Given the description of an element on the screen output the (x, y) to click on. 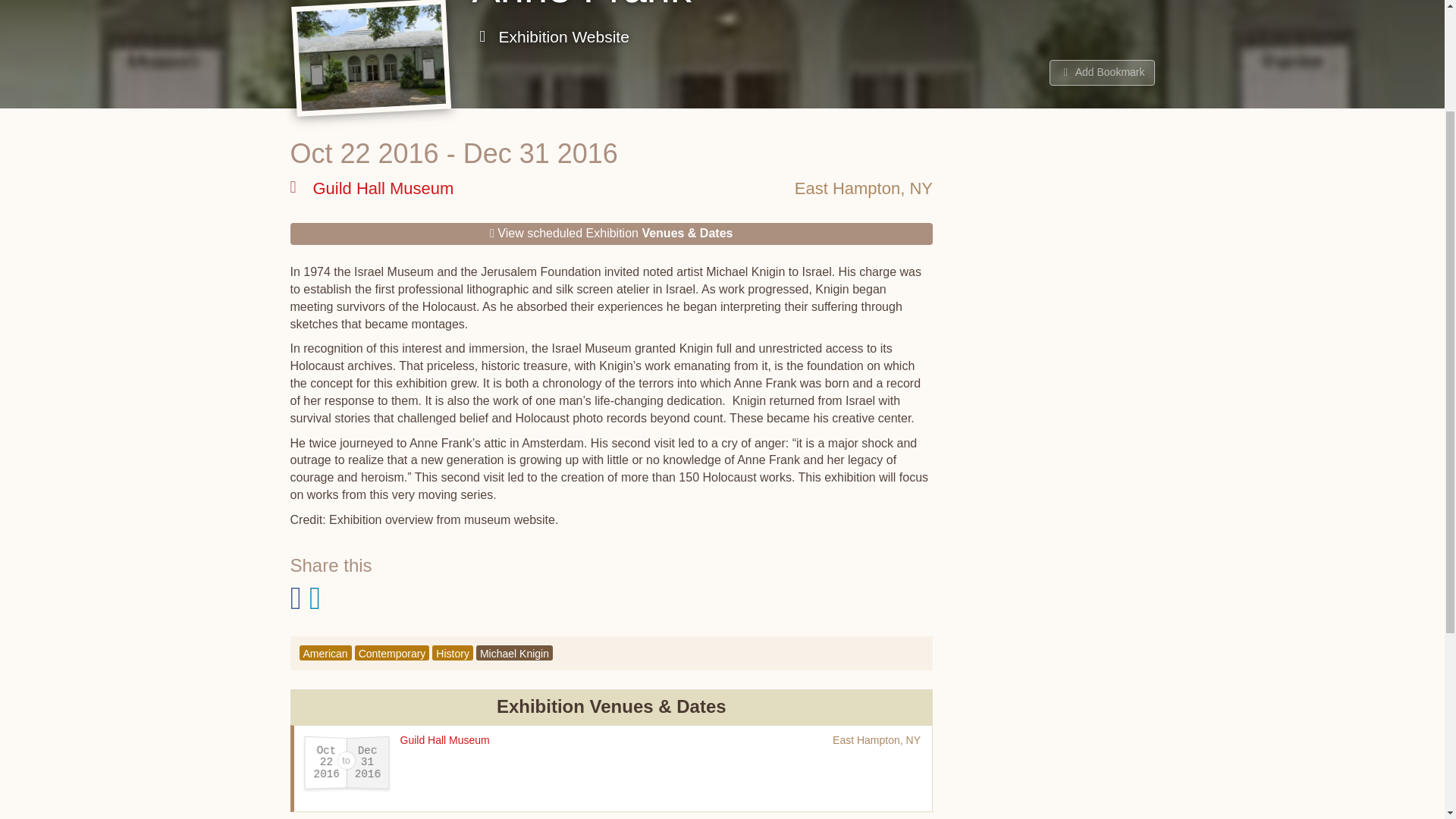
Exhibition Website (549, 36)
Guild Hall Museum (444, 739)
Guild Hall Museum (370, 187)
Add Bookmark (1101, 72)
